Given the description of an element on the screen output the (x, y) to click on. 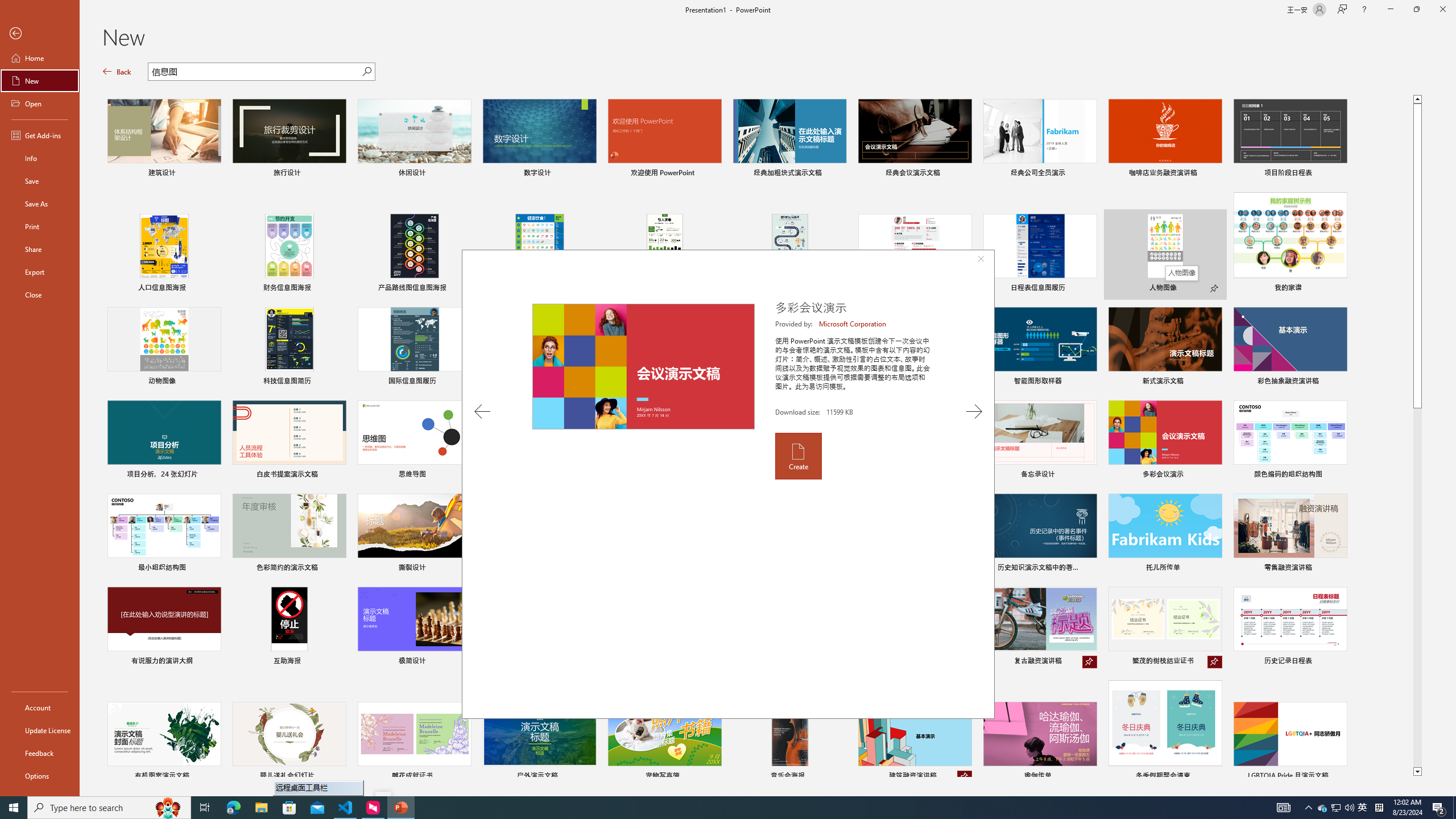
Class: NetUIScrollBar (1450, 428)
Page down (1417, 587)
Back (117, 71)
